Given the description of an element on the screen output the (x, y) to click on. 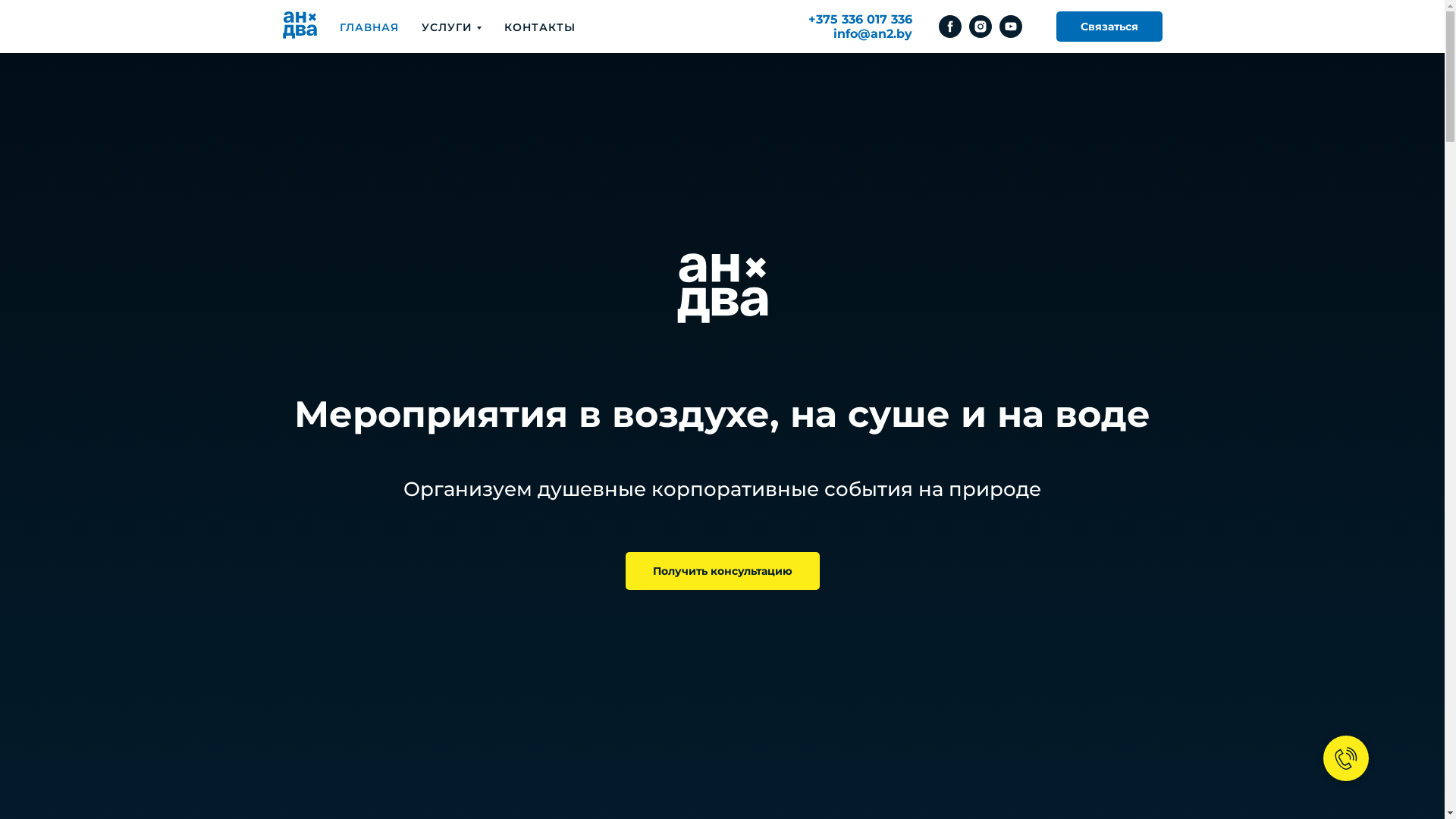
info@an2.by Element type: text (871, 33)
+375 336 017 336 Element type: text (860, 19)
